Given the description of an element on the screen output the (x, y) to click on. 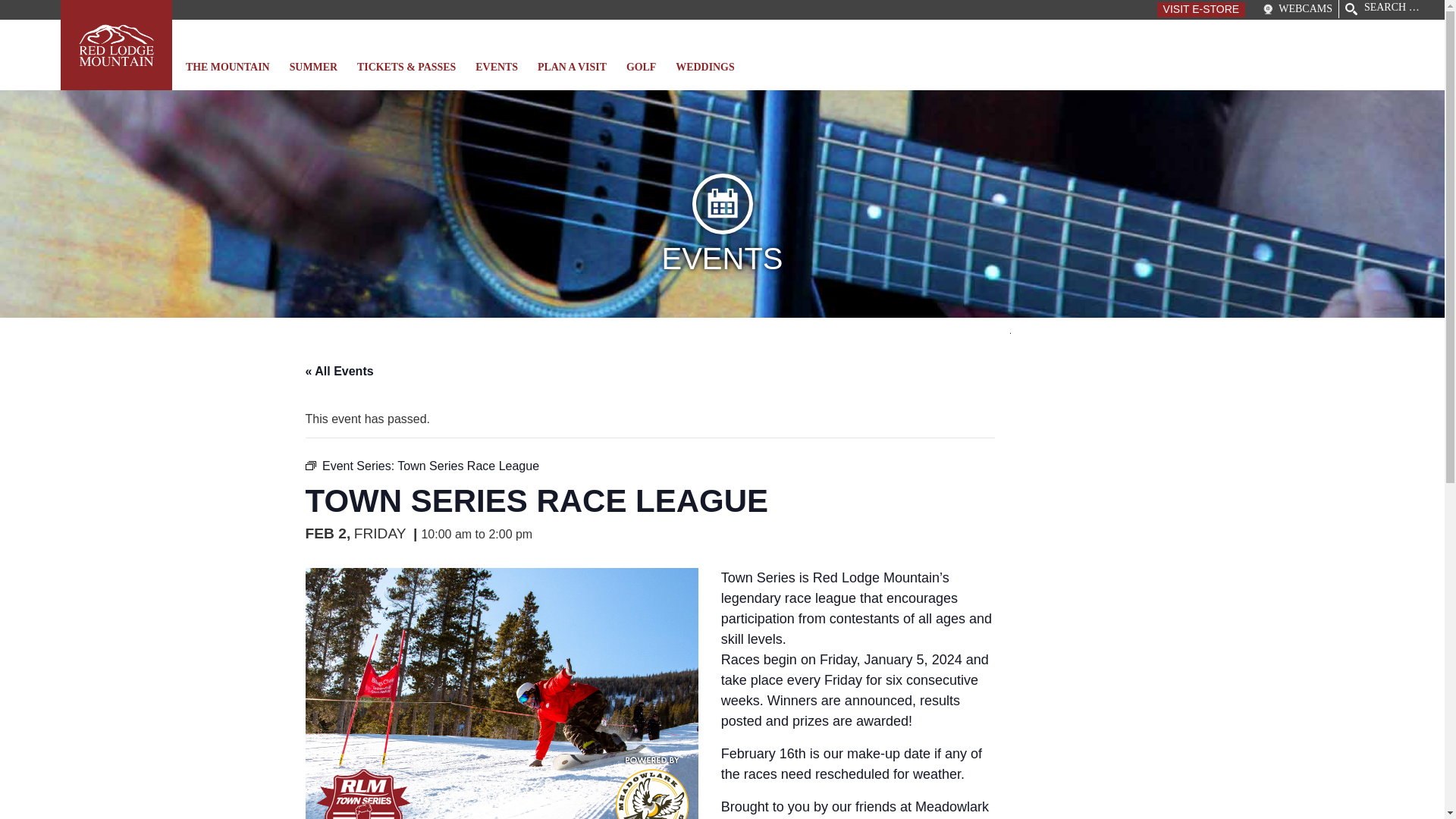
SUMMER (315, 74)
logo (116, 44)
Event Series (309, 465)
Search (33, 10)
THE MOUNTAIN (229, 74)
VISIT E-STORE (1201, 8)
Search for: (1392, 8)
